Given the description of an element on the screen output the (x, y) to click on. 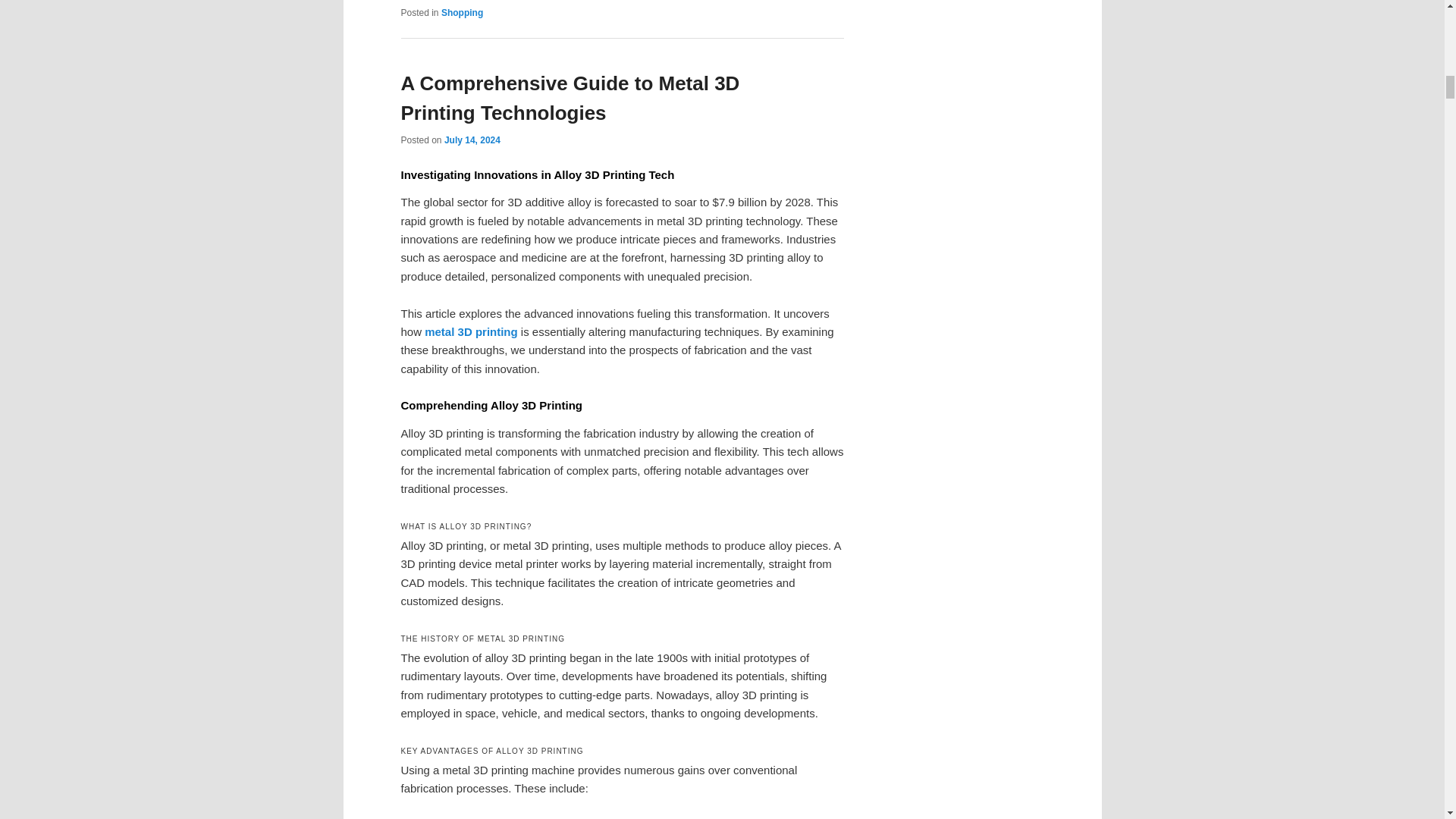
Shopping (462, 12)
10:53 pm (472, 140)
A Comprehensive Guide to Metal 3D Printing Technologies (569, 98)
metal 3D printing (471, 331)
July 14, 2024 (472, 140)
